Given the description of an element on the screen output the (x, y) to click on. 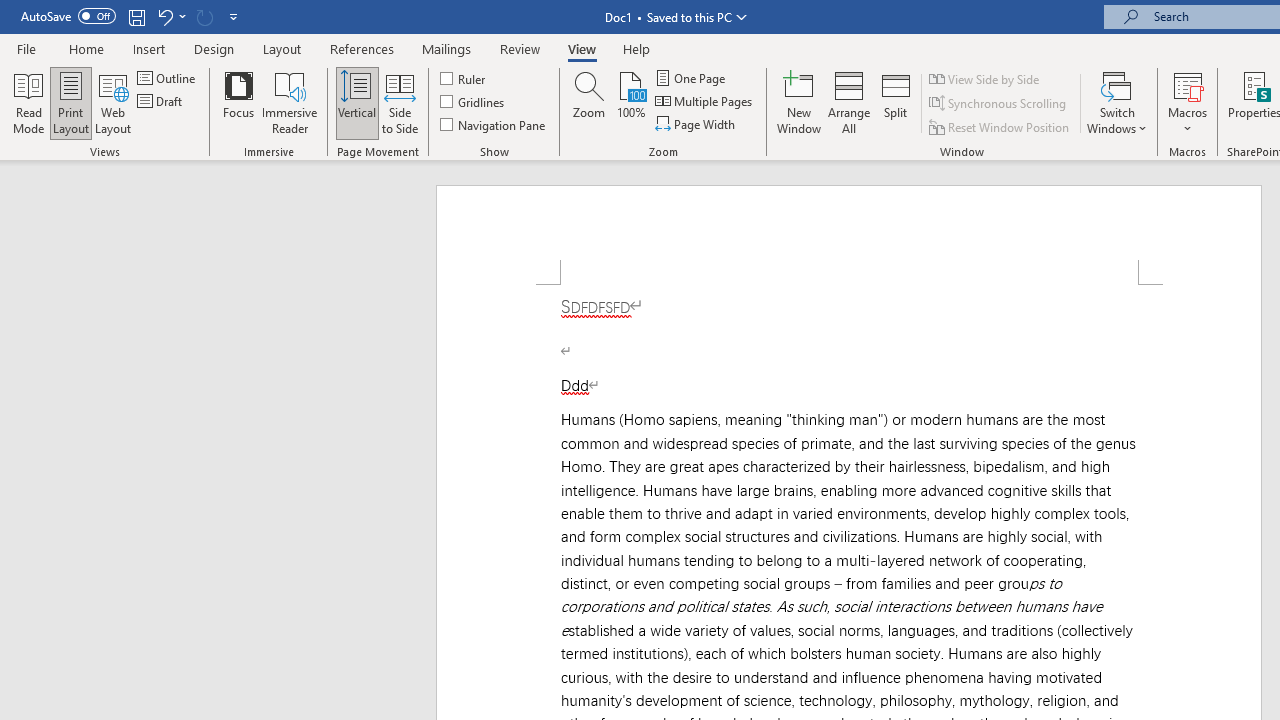
Layout (282, 48)
Help (637, 48)
AutoSave (68, 16)
Macros (1187, 102)
Insert (149, 48)
References (362, 48)
Arrange All (848, 102)
Split (895, 102)
Print Layout (70, 102)
Undo Apply Quick Style Set (170, 15)
Outline (168, 78)
Zoom... (589, 102)
Draft (161, 101)
One Page (691, 78)
Switch Windows (1117, 102)
